Given the description of an element on the screen output the (x, y) to click on. 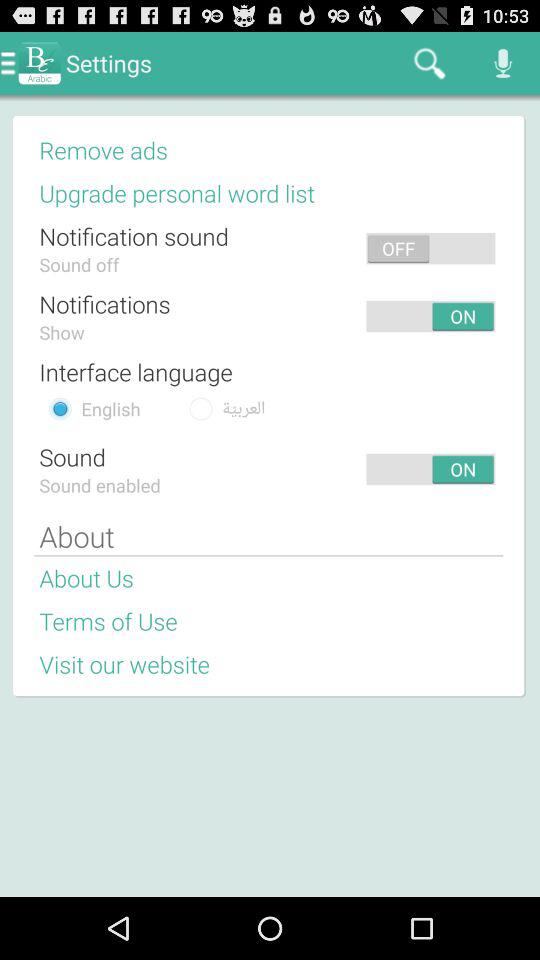
click the icon to the right of the about us icon (321, 577)
